Given the description of an element on the screen output the (x, y) to click on. 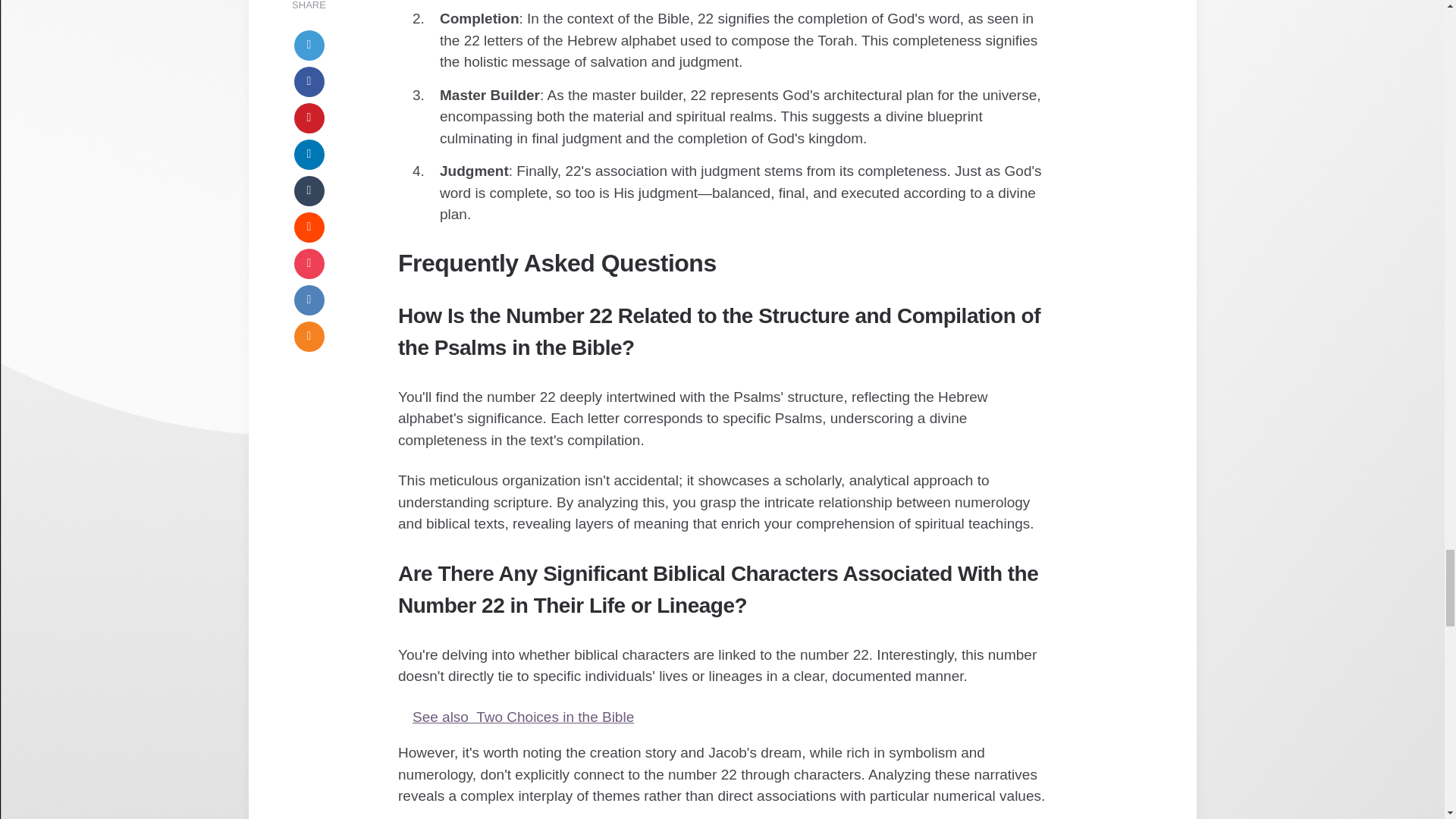
See also  Two Choices in the Bible (721, 717)
